Given the description of an element on the screen output the (x, y) to click on. 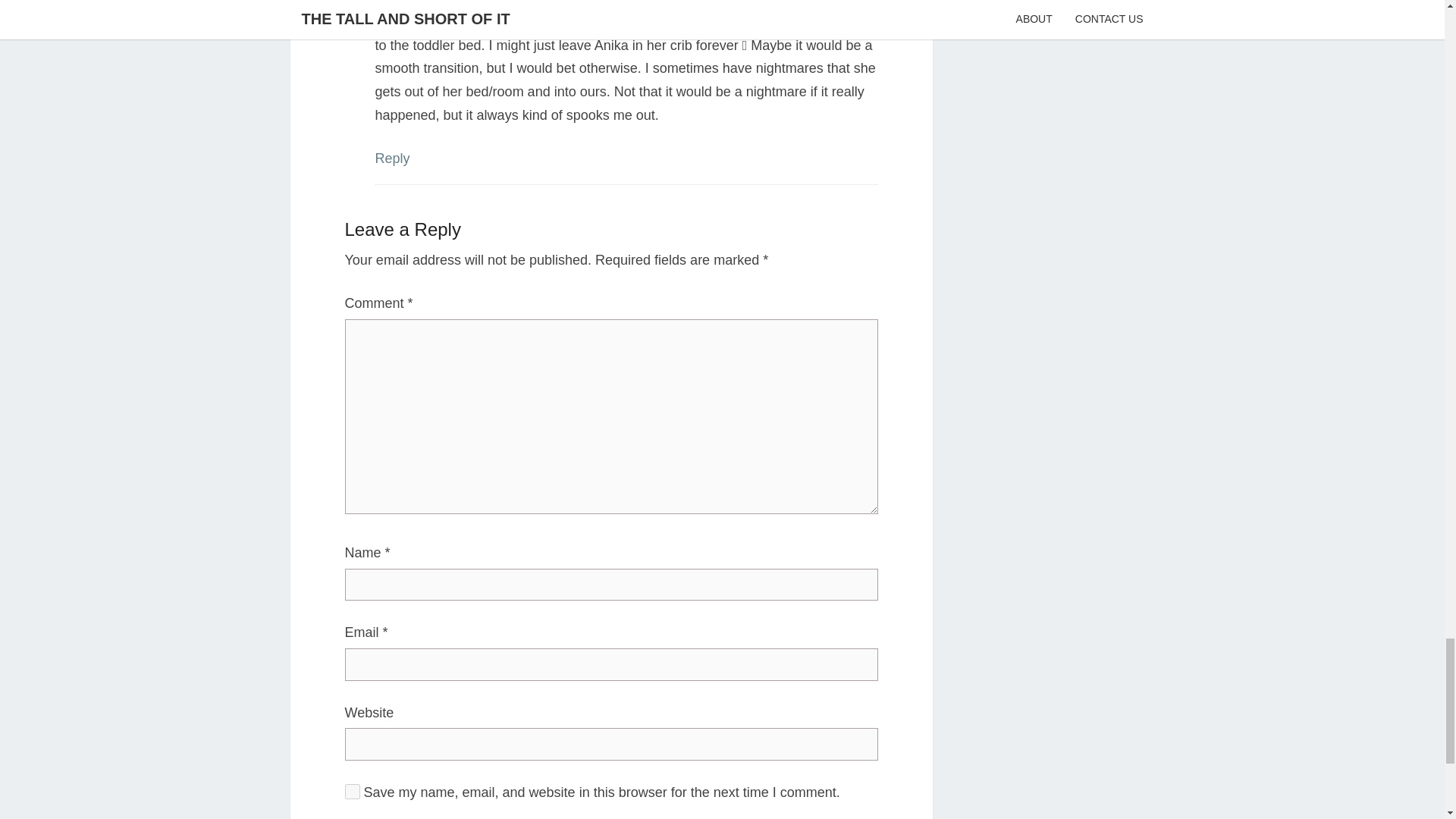
yes (351, 791)
Reply (391, 158)
January 26, 2012 at 4:42 pm (443, 3)
